Given the description of an element on the screen output the (x, y) to click on. 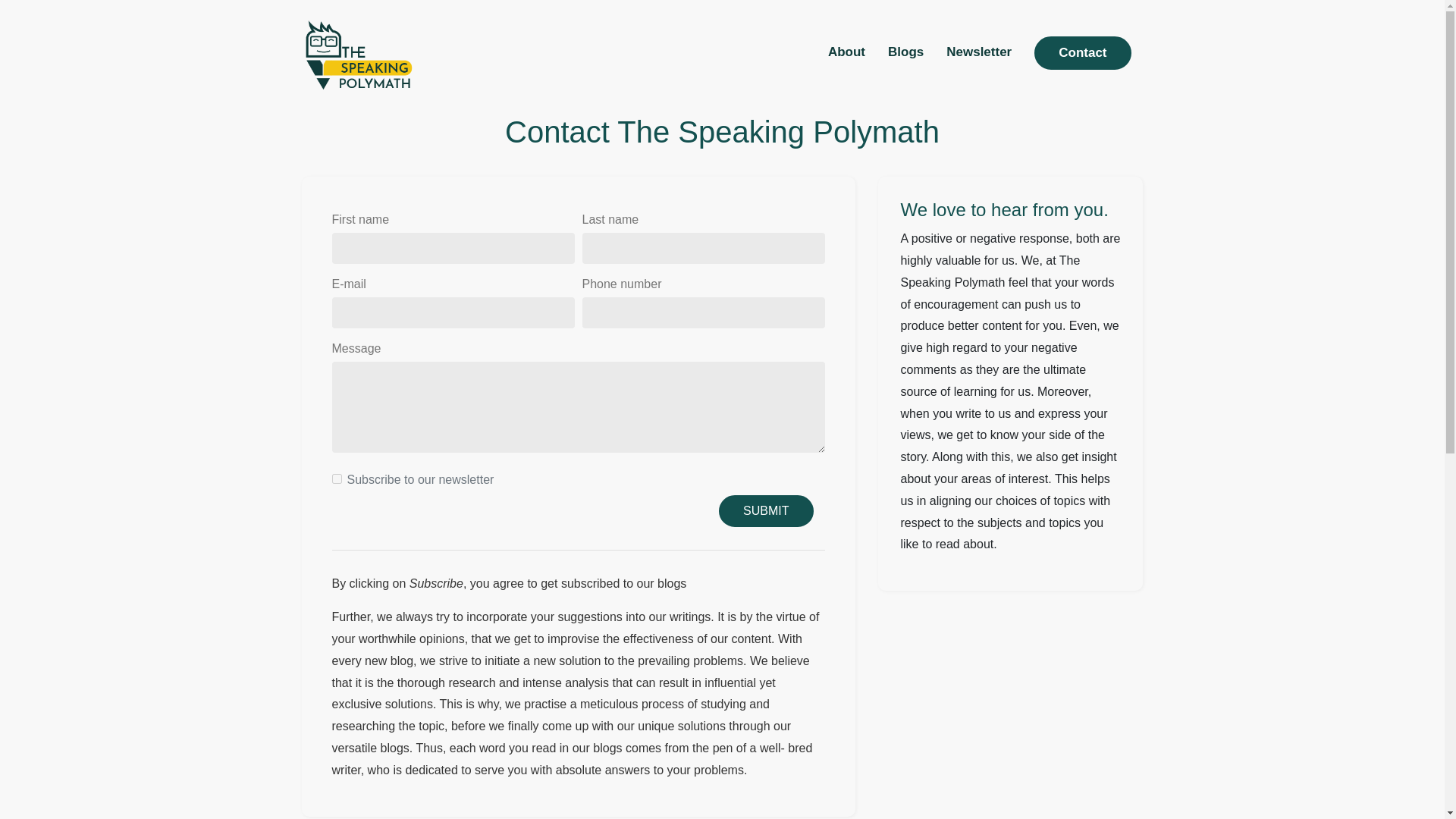
Invalid email address (453, 312)
Blogs (905, 51)
The Speaking Polymath (357, 54)
only 10 digits allowed (703, 312)
Only letters (453, 246)
Newsletter (978, 51)
Contact (1082, 52)
1 (336, 479)
About (846, 51)
SUBMIT (765, 510)
